Given the description of an element on the screen output the (x, y) to click on. 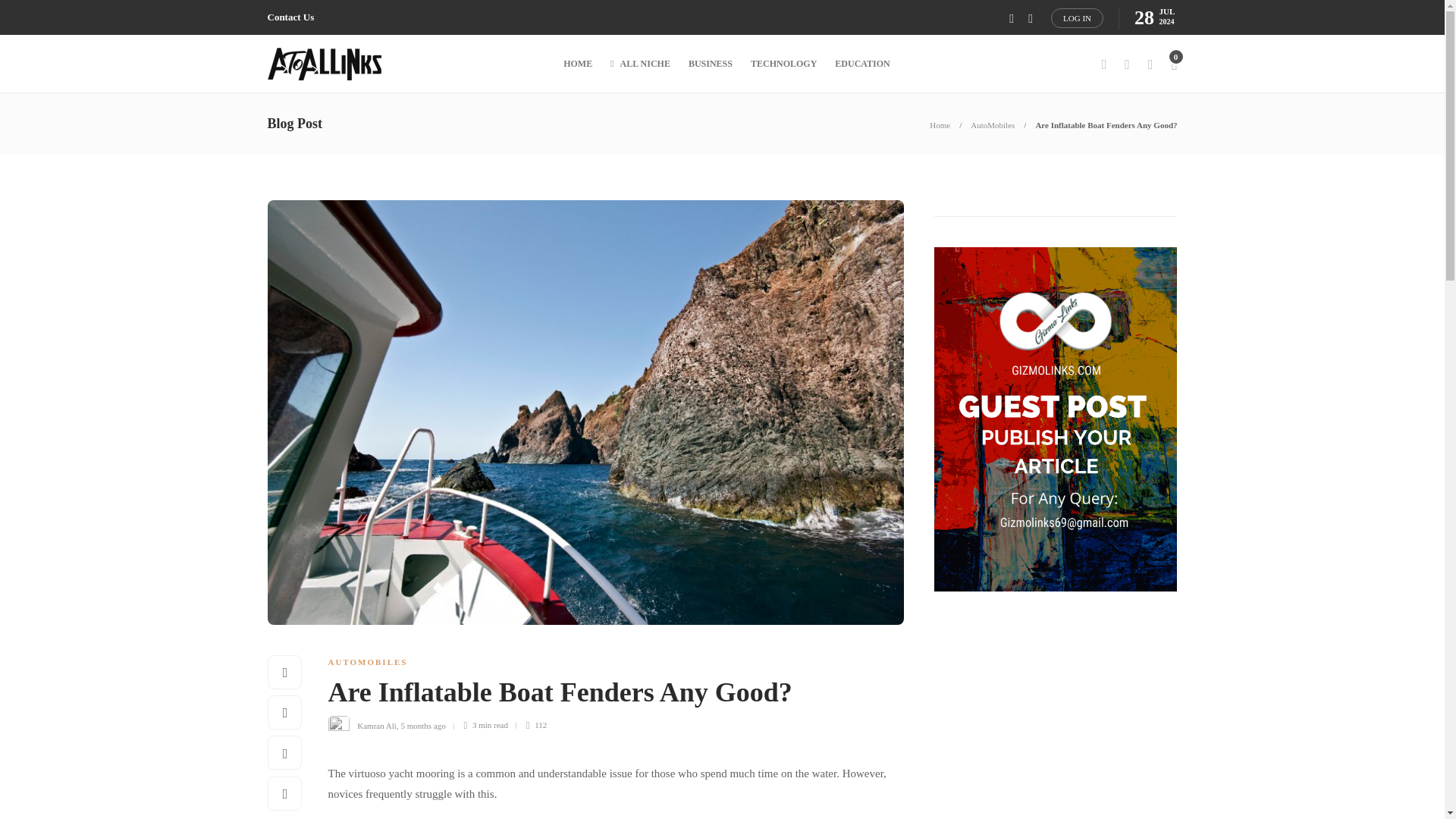
AUTOMOBILES (367, 661)
Are Inflatable Boat Fenders Any Good? (1105, 124)
BUSINESS (710, 63)
LOG IN (1077, 17)
Home (940, 124)
Contact Us (290, 17)
Are Inflatable Boat Fenders Any Good?  (603, 696)
Kamran Ali (376, 724)
ALL NICHE (639, 63)
AutoMobiles (992, 124)
TECHNOLOGY (783, 63)
HOME (577, 63)
Home (940, 124)
EDUCATION (861, 63)
0 (1173, 63)
